Given the description of an element on the screen output the (x, y) to click on. 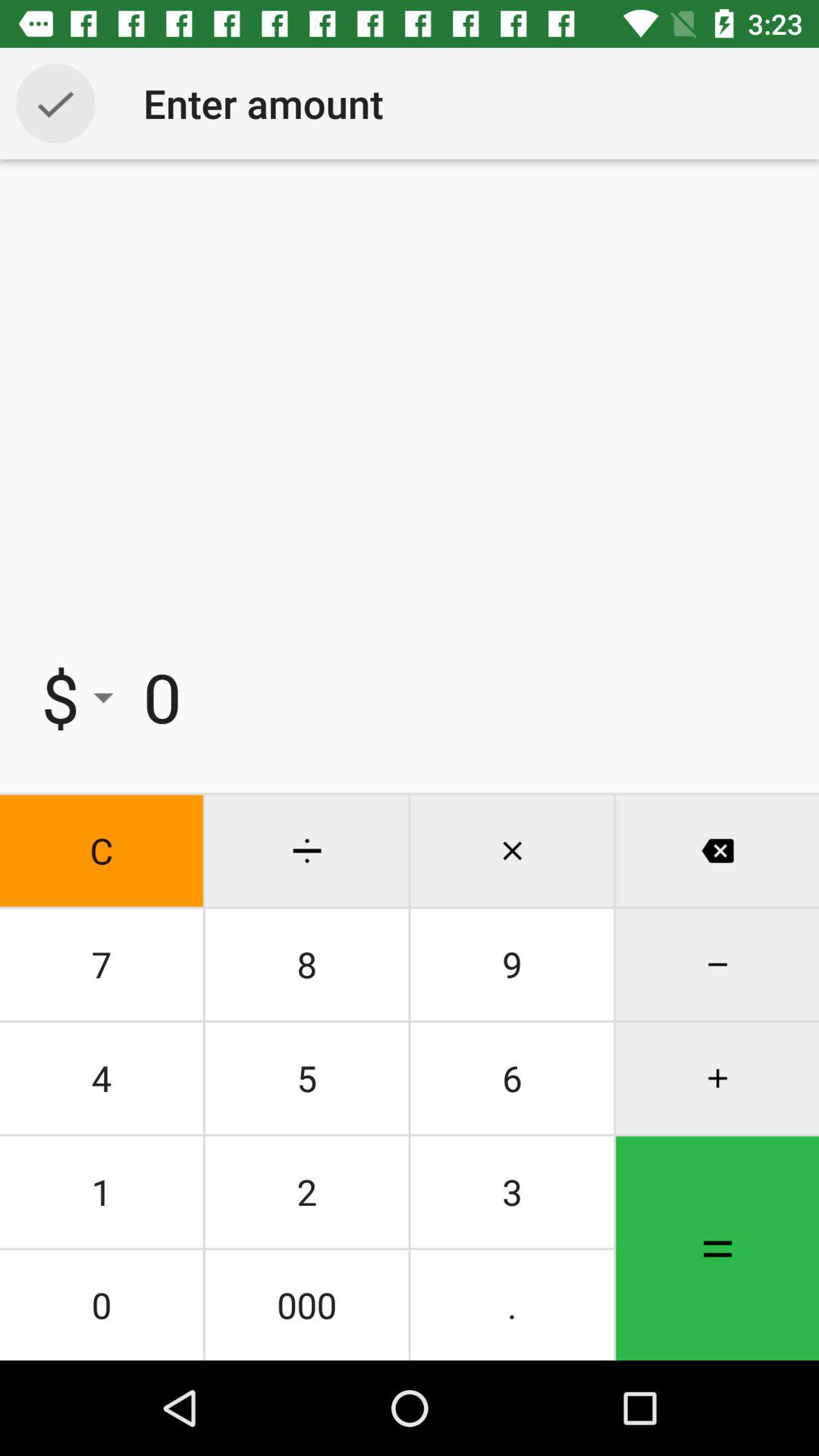
press icon above 4 item (101, 964)
